Given the description of an element on the screen output the (x, y) to click on. 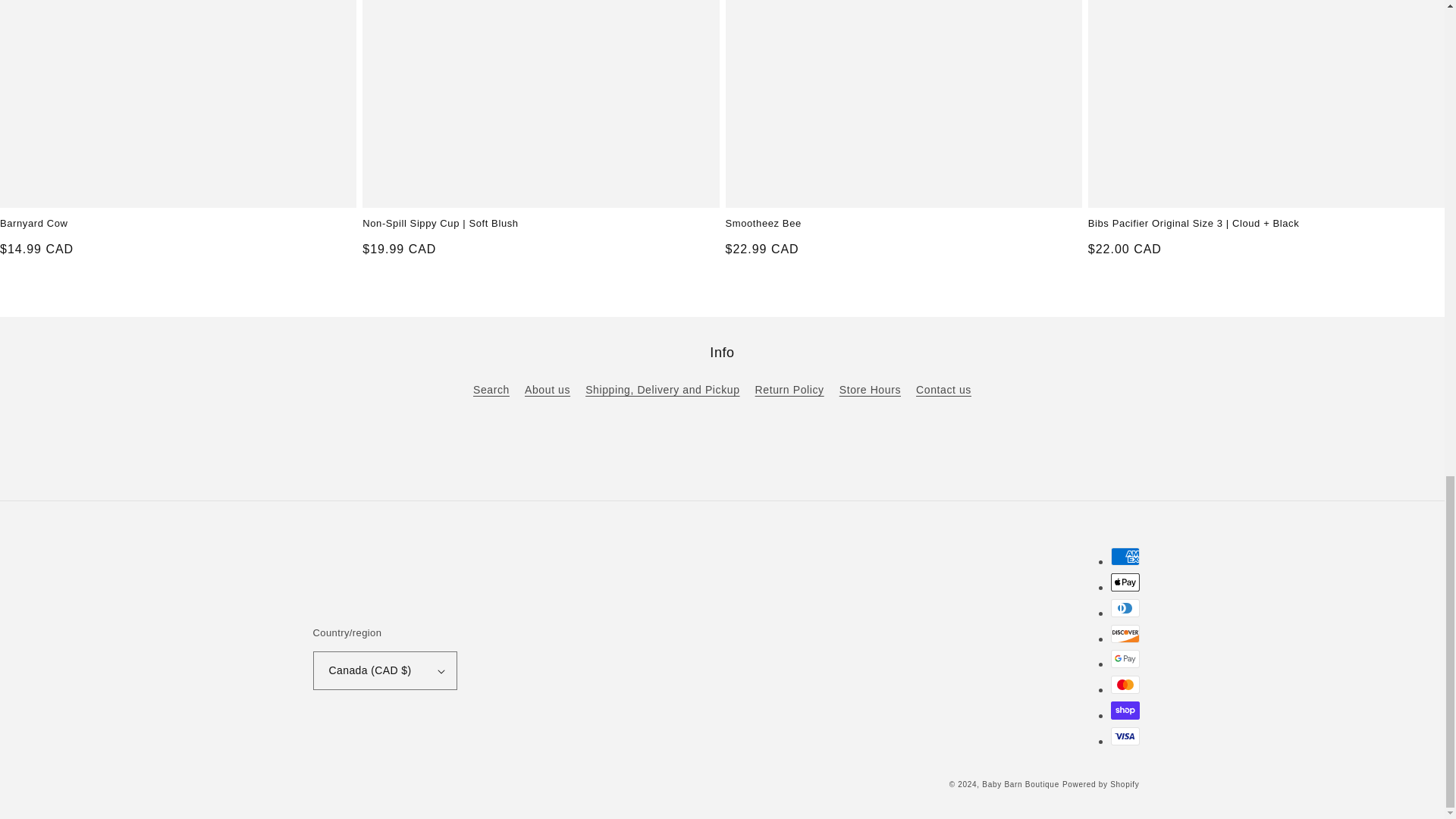
Apple Pay (1123, 582)
Diners Club (1123, 607)
Discover (1123, 633)
American Express (1123, 556)
